Given the description of an element on the screen output the (x, y) to click on. 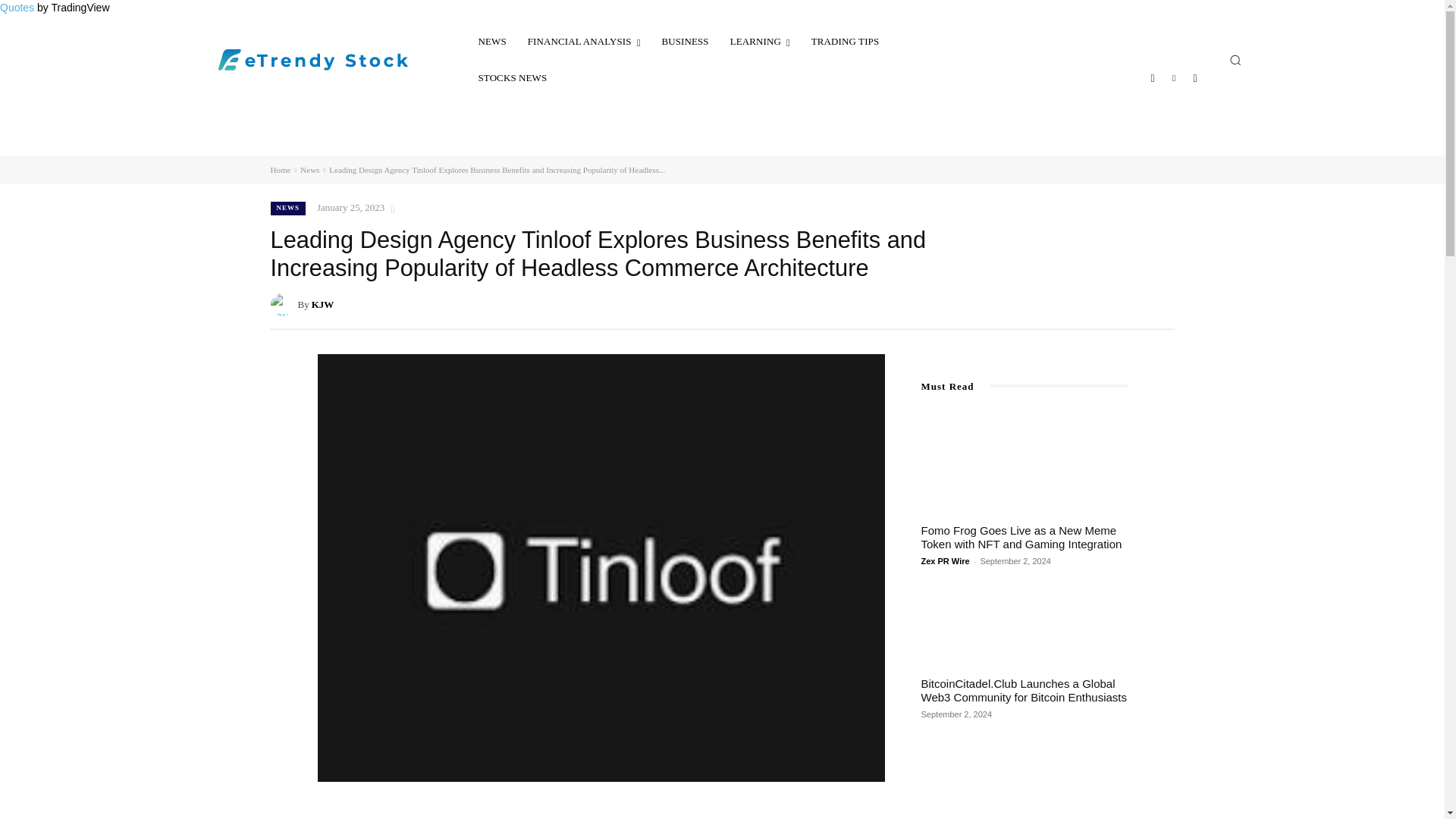
View all posts in News (308, 169)
BUSINESS (684, 41)
Facebook (1152, 77)
Linkedin (1174, 77)
Quotes (16, 7)
Twitter (1195, 77)
LEARNING (759, 41)
KJW (283, 304)
NEWS (491, 41)
FINANCIAL ANALYSIS (583, 41)
